Given the description of an element on the screen output the (x, y) to click on. 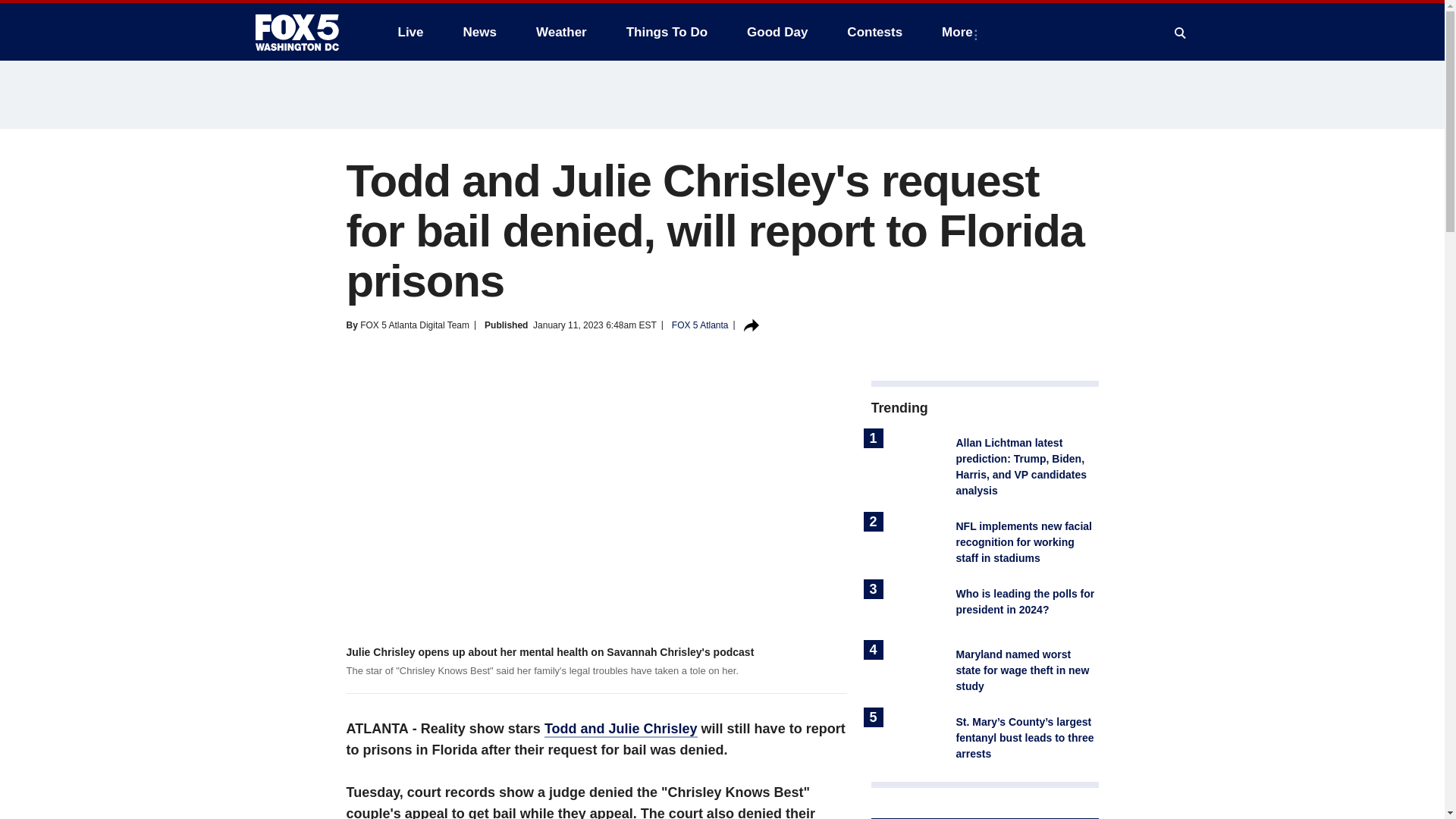
News (479, 32)
Things To Do (666, 32)
Weather (561, 32)
Contests (874, 32)
Live (410, 32)
Good Day (777, 32)
More (960, 32)
